Given the description of an element on the screen output the (x, y) to click on. 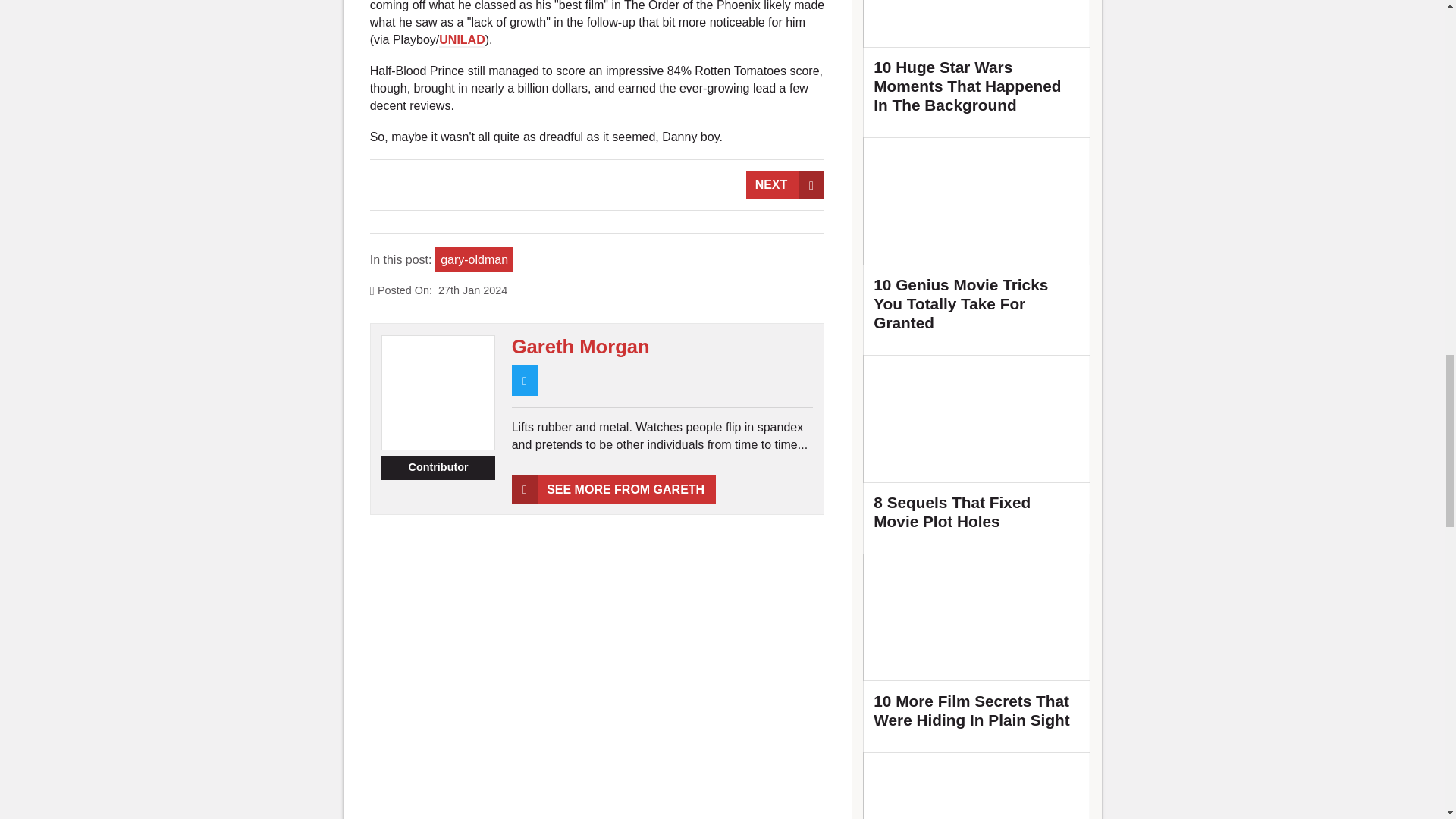
10 Genius Movie Tricks You Totally Take For Granted (976, 240)
8 Sequels That Fixed Movie Plot Holes (976, 448)
10 Huge Star Wars Moments That Happened In The Background (976, 63)
Contributor (438, 467)
